Given the description of an element on the screen output the (x, y) to click on. 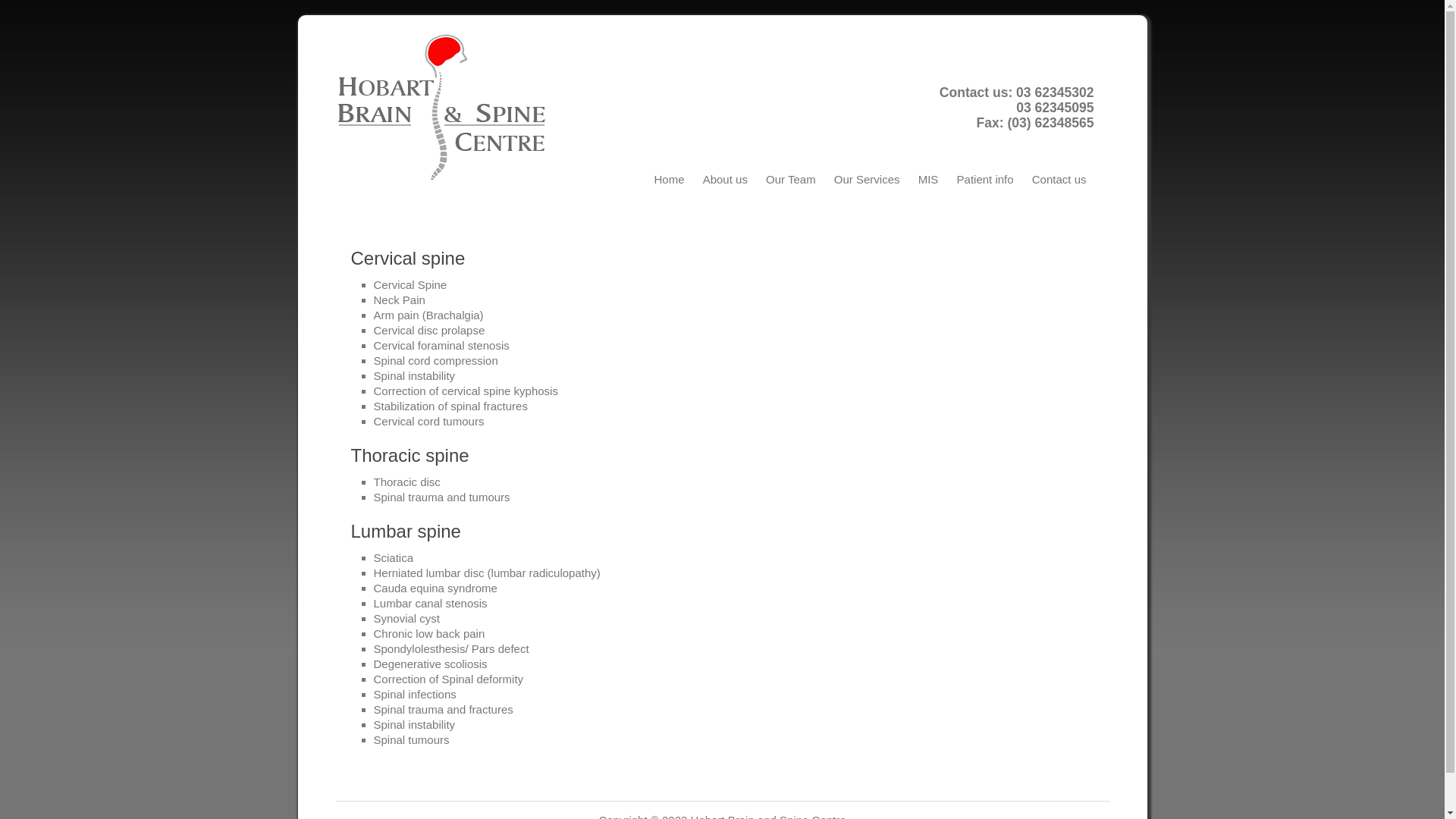
Home Element type: text (668, 178)
Our Team Element type: text (790, 178)
Contact us Element type: text (1059, 178)
Hobart Brain and Spine Element type: text (448, 107)
Patient info Element type: text (985, 178)
Our Services Element type: text (866, 178)
MIS Element type: text (928, 178)
About us Element type: text (725, 178)
